Given the description of an element on the screen output the (x, y) to click on. 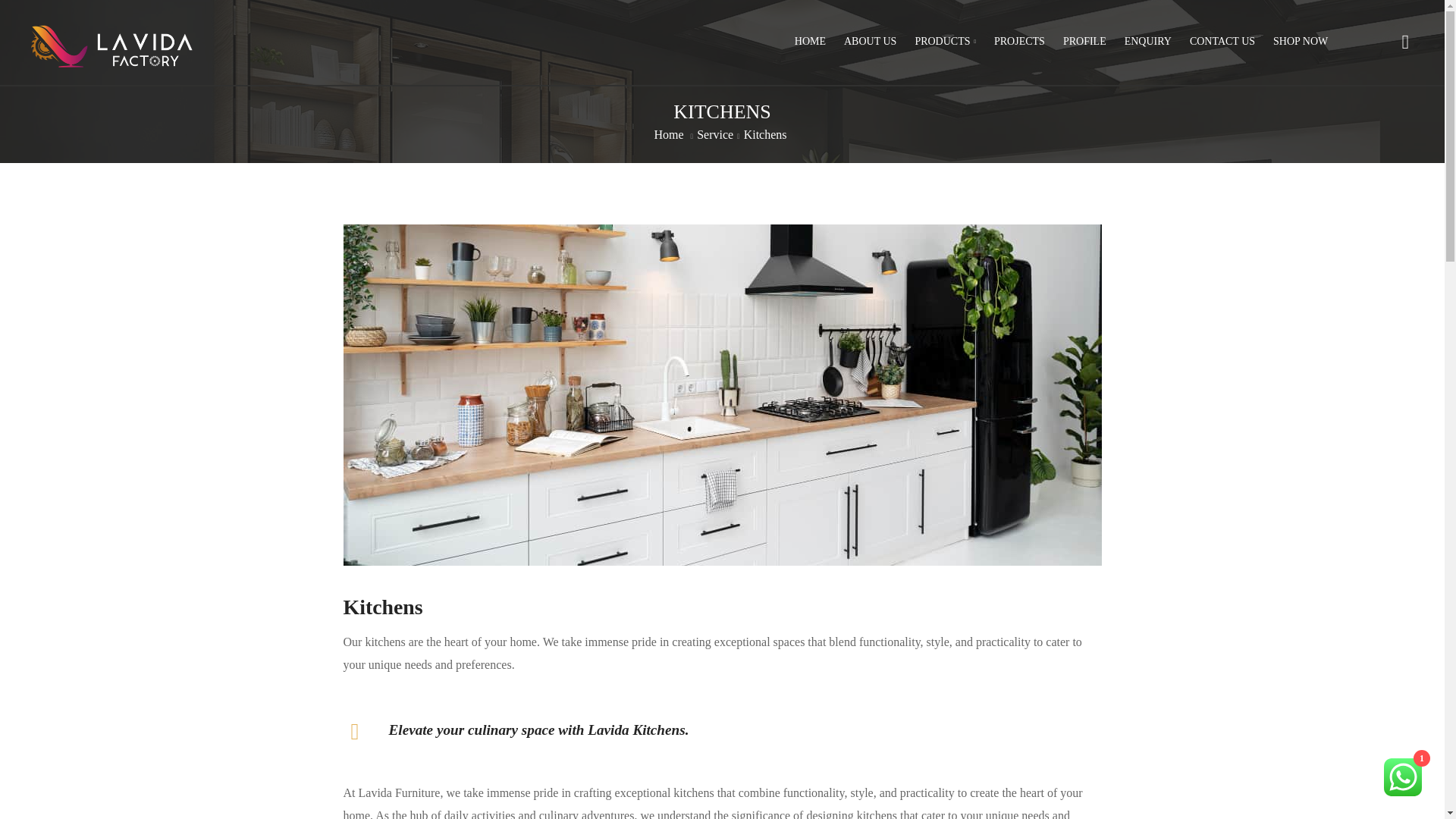
HOME (809, 41)
PROJECTS (1019, 41)
SHOP NOW (1300, 41)
ENQUIRY (1147, 41)
ABOUT US (869, 41)
PRODUCTS (945, 41)
PROFILE (1084, 41)
Home (667, 133)
CONTACT US (1222, 41)
